Given the description of an element on the screen output the (x, y) to click on. 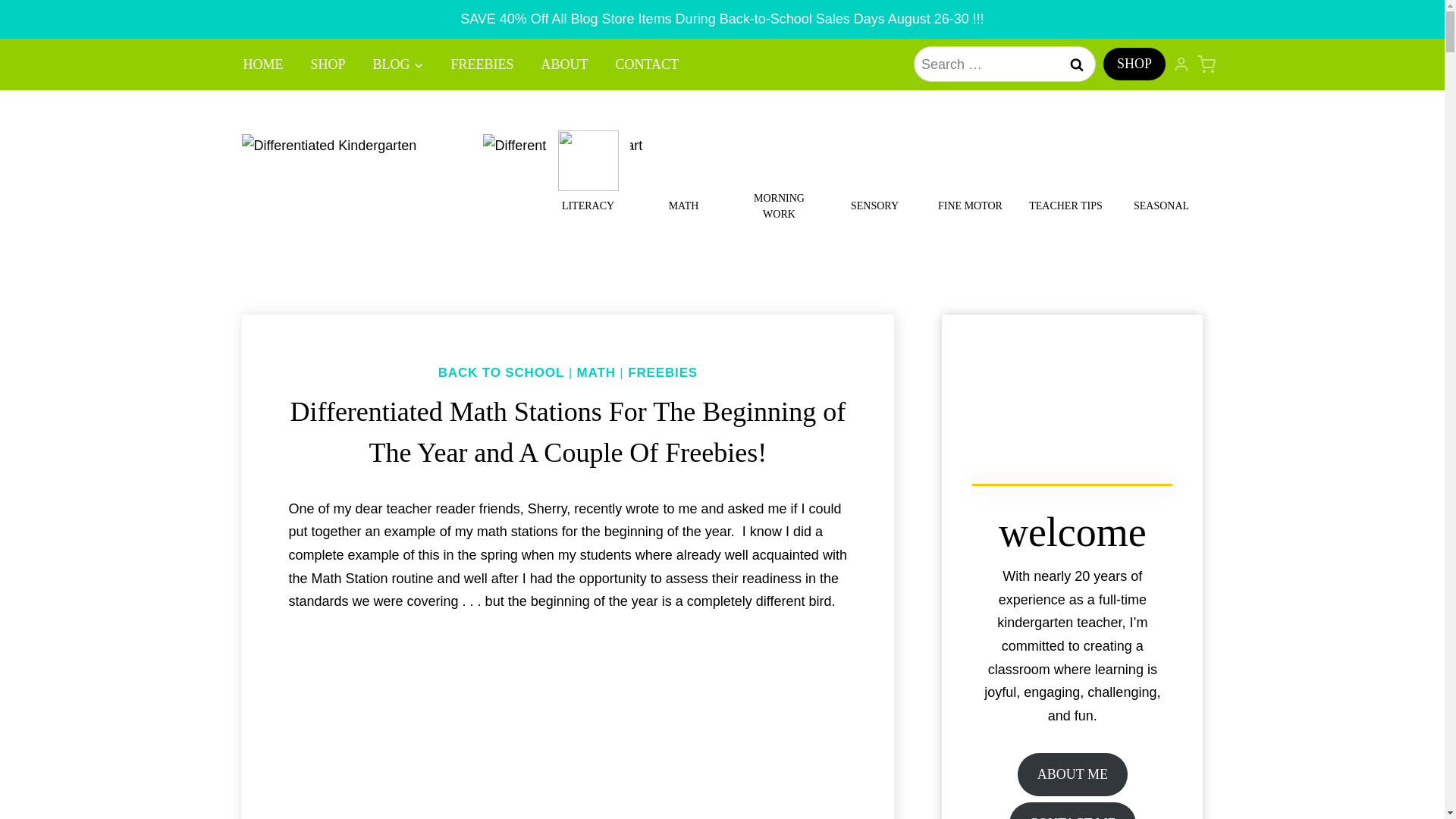
Search (1077, 63)
Search (1077, 63)
SENSORY (873, 172)
SHOP (1134, 63)
Search (1077, 63)
MATH (683, 172)
ABOUT (564, 64)
SEASONAL (1160, 172)
FREEBIES (482, 64)
BLOG (398, 64)
